Given the description of an element on the screen output the (x, y) to click on. 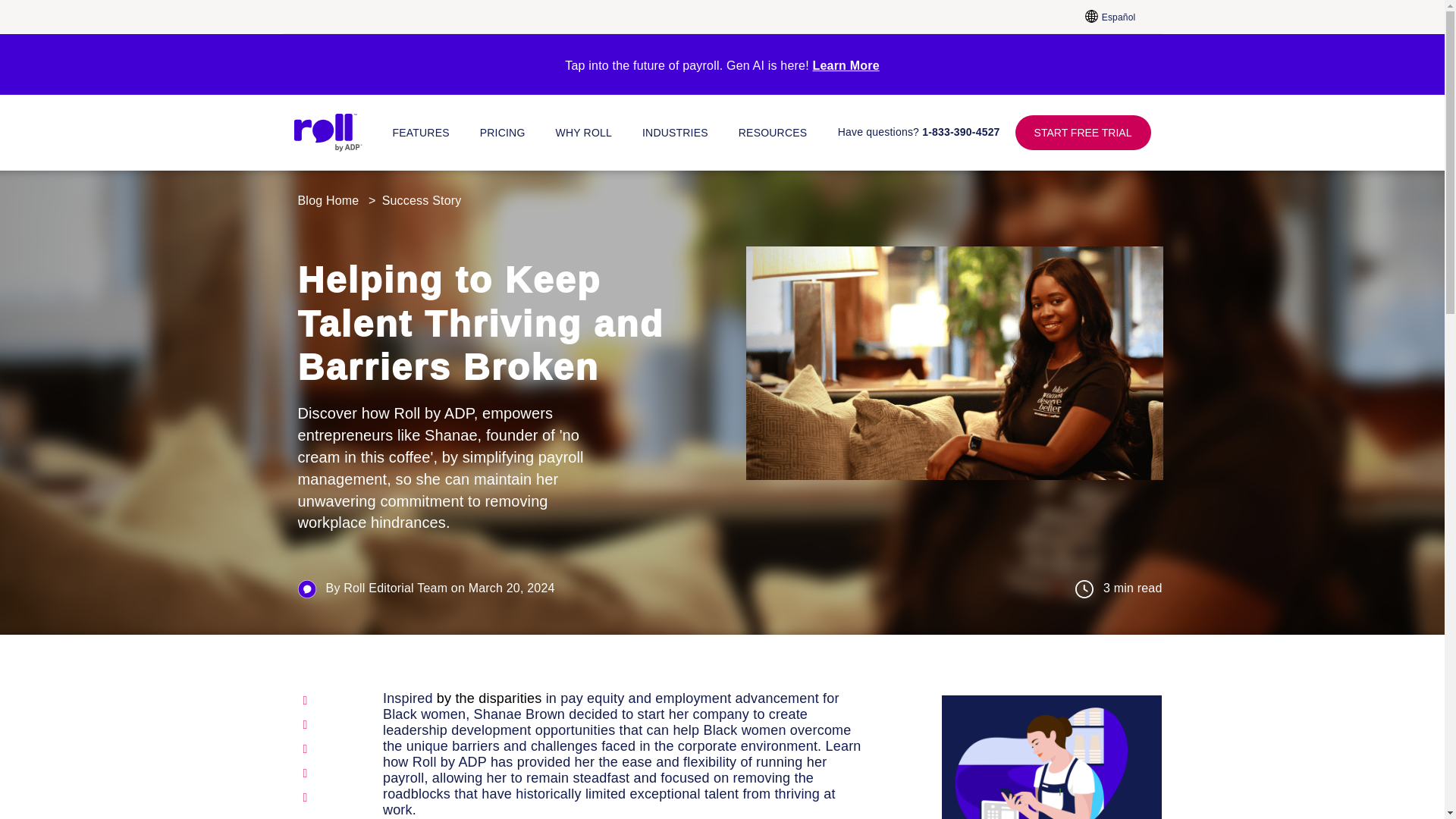
Print this page (327, 797)
PRICING (502, 132)
Share this page on Facebook (327, 700)
WHY ROLL (582, 132)
Share this page on Twitter (327, 724)
Email this article (327, 773)
Global Switch (1103, 16)
FEATURES (421, 132)
Share this page on LinkedIn (327, 749)
